Given the description of an element on the screen output the (x, y) to click on. 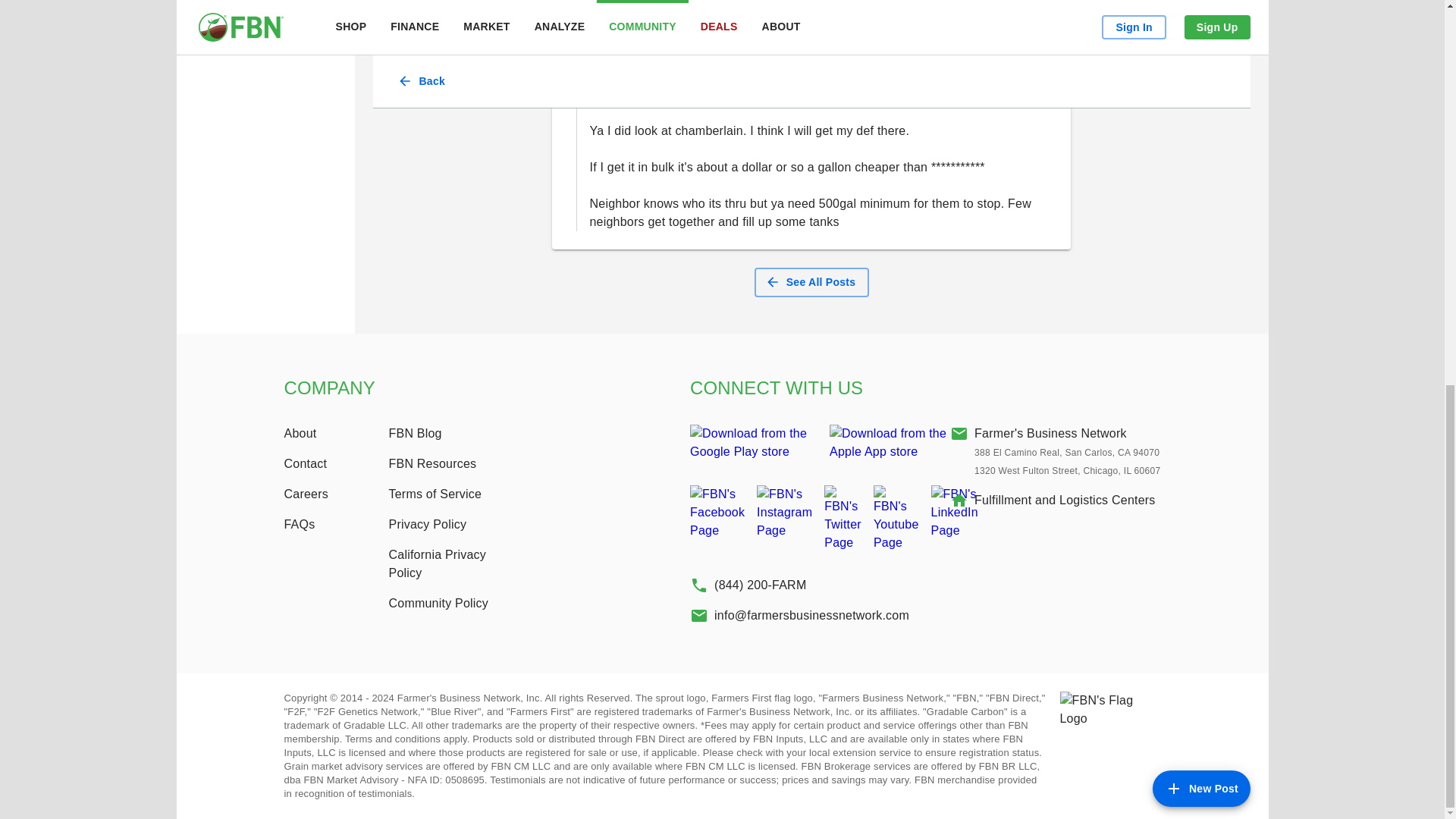
2020-01-17 00:55 (659, 102)
